Given the description of an element on the screen output the (x, y) to click on. 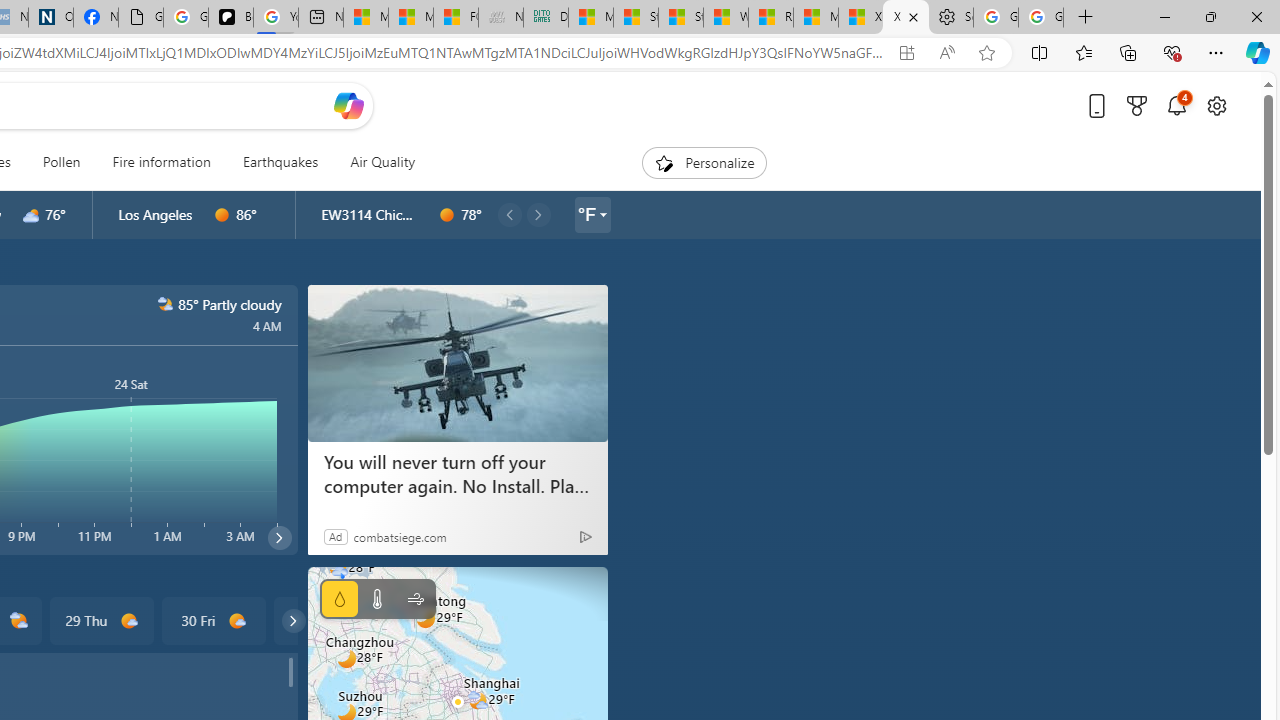
Be Smart | creating Science videos | Patreon (230, 17)
29 Thu d1000 (100, 620)
Pollen (61, 162)
Fire information (161, 162)
d1000 (235, 621)
FOX News - MSN (455, 17)
App available. Install Microsoft Start Weather (906, 53)
